Given the description of an element on the screen output the (x, y) to click on. 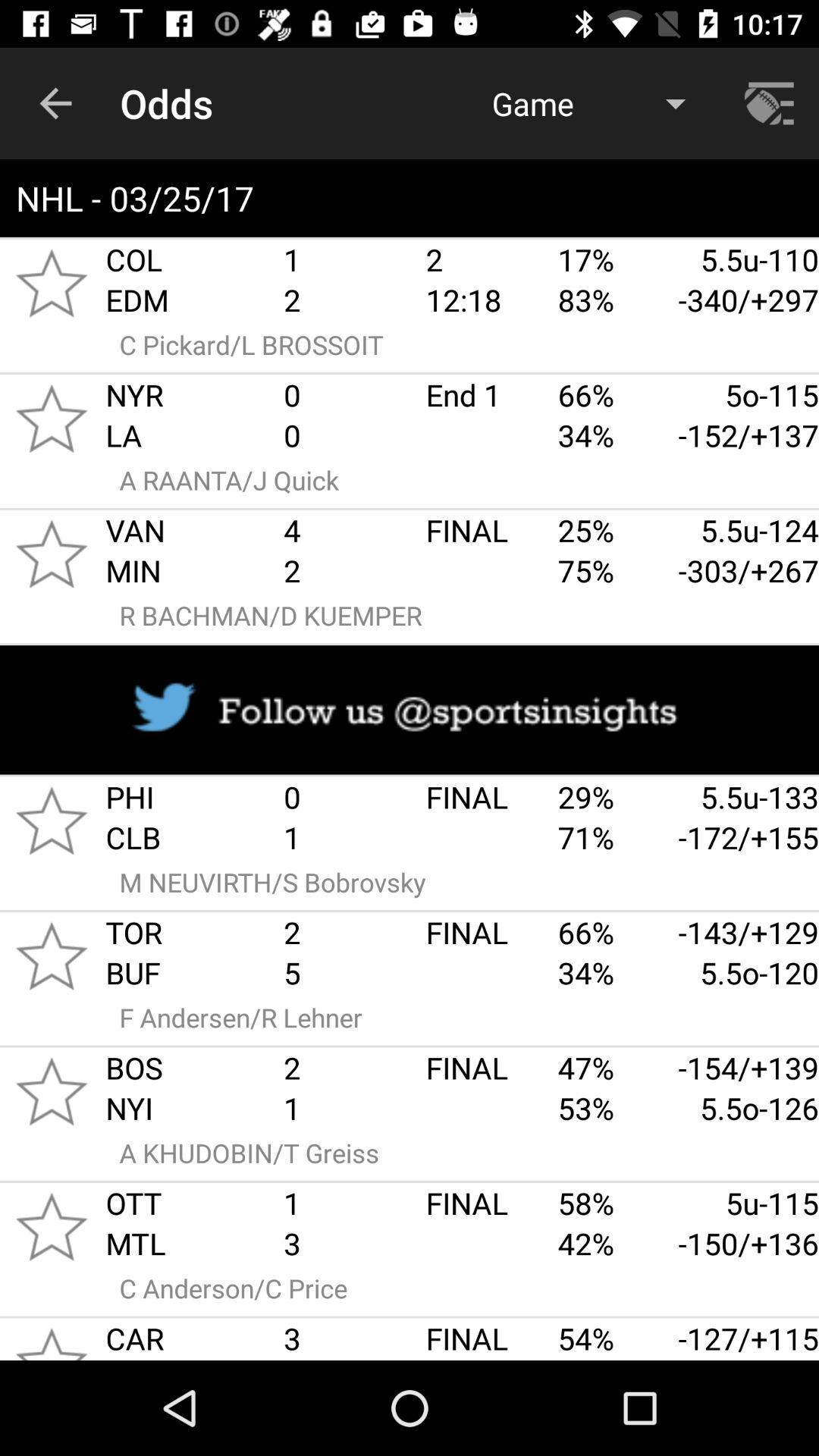
favorite (51, 955)
